Given the description of an element on the screen output the (x, y) to click on. 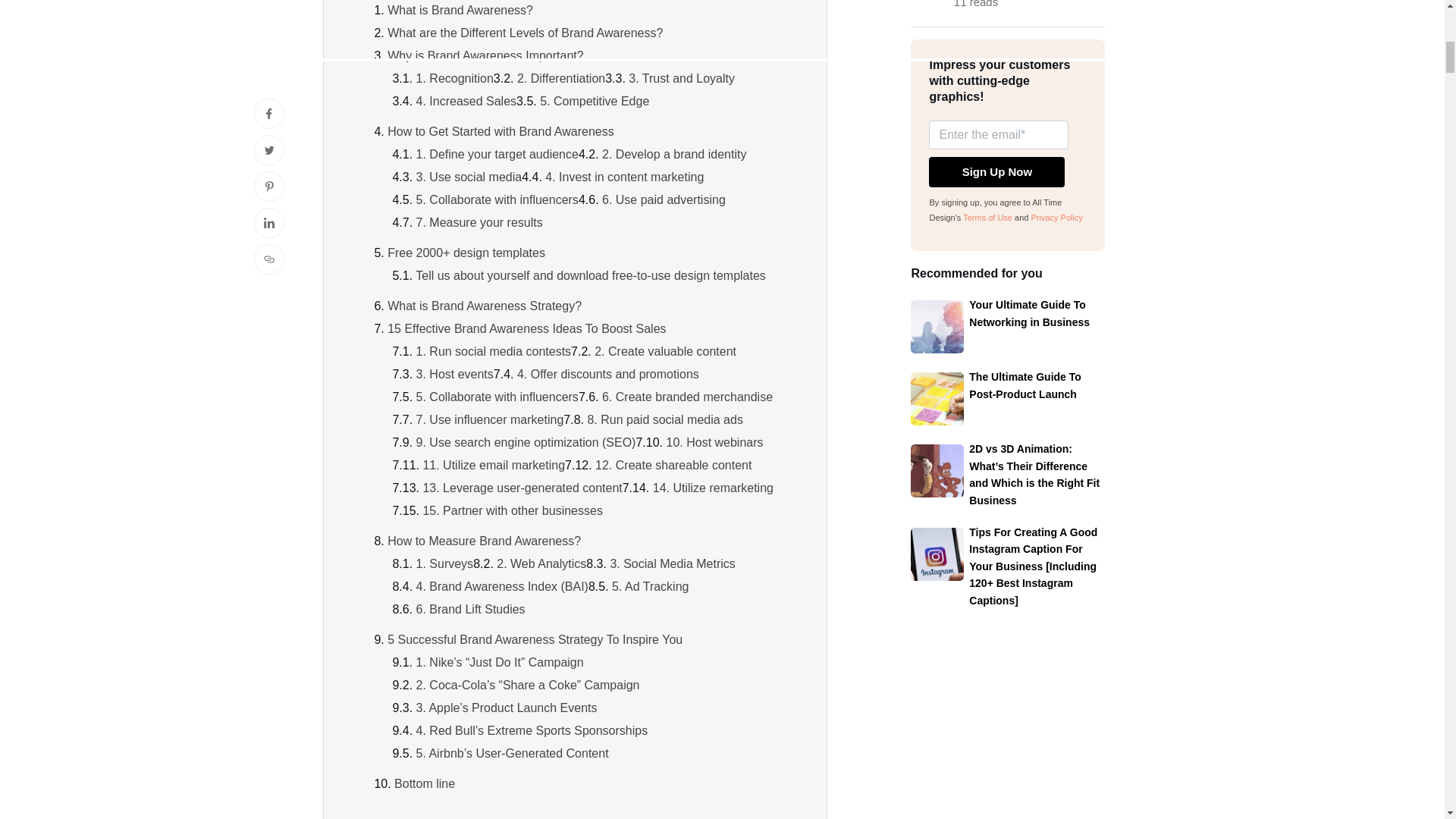
5. Collaborate with influencers (497, 199)
3. Trust and Loyalty (681, 78)
6. Use paid advertising (663, 199)
Copy to Clipboard (271, 99)
What is Brand Awareness Strategy? (483, 305)
Why is Brand Awareness Important? (485, 55)
7. Measure your results (479, 222)
3. Use social media (469, 176)
1. Define your target audience (497, 154)
2. Develop a brand identity (673, 154)
1. Define your target audience (497, 154)
Why is Brand Awareness Important? (485, 55)
Sign Up Now (996, 172)
1. Recognition (454, 78)
4. Increased Sales (466, 101)
